Given the description of an element on the screen output the (x, y) to click on. 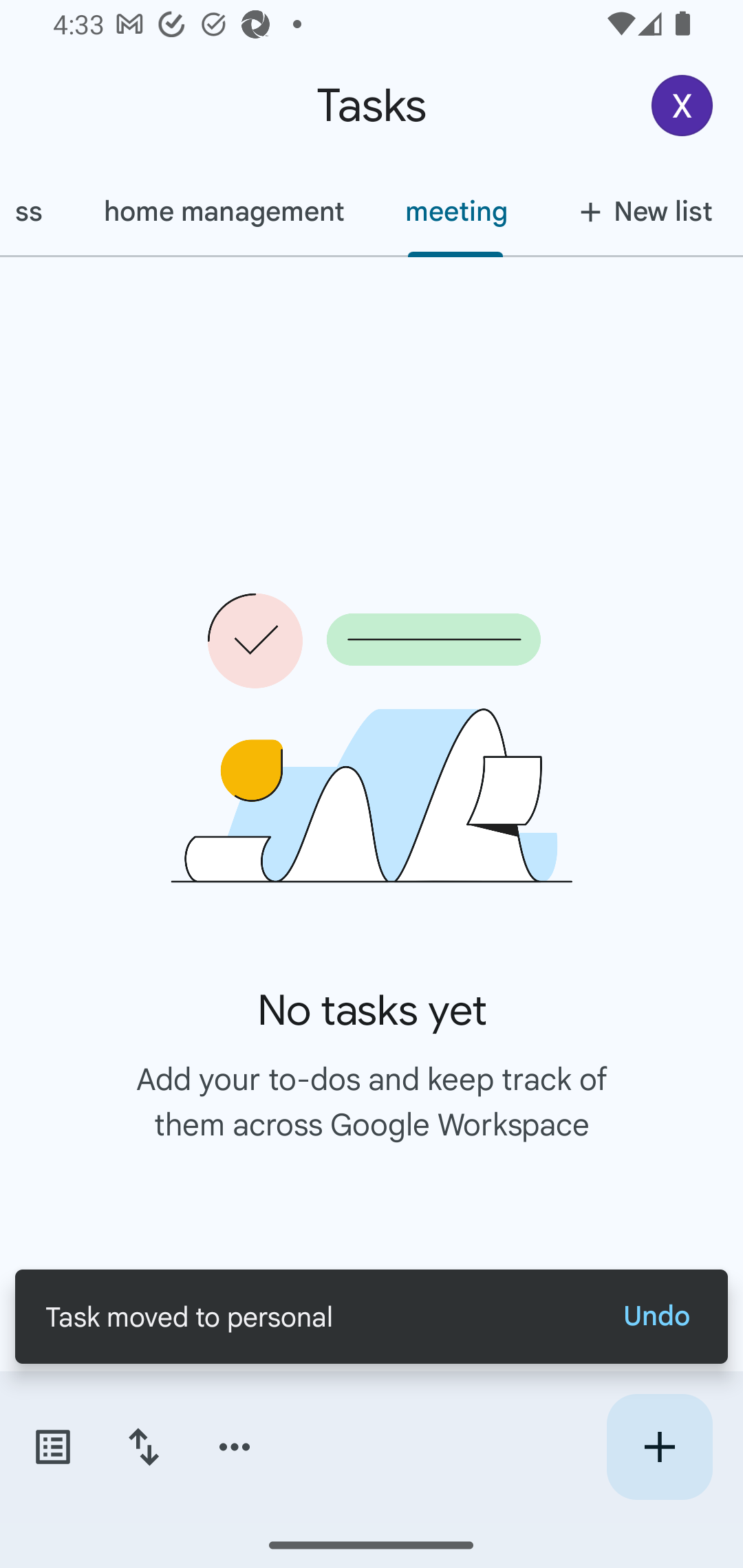
fitness (36, 211)
home management (223, 211)
New list (640, 211)
Undo (656, 1316)
Switch task lists (52, 1447)
Create new task (659, 1446)
Change sort order (143, 1446)
More options (234, 1446)
